Given the description of an element on the screen output the (x, y) to click on. 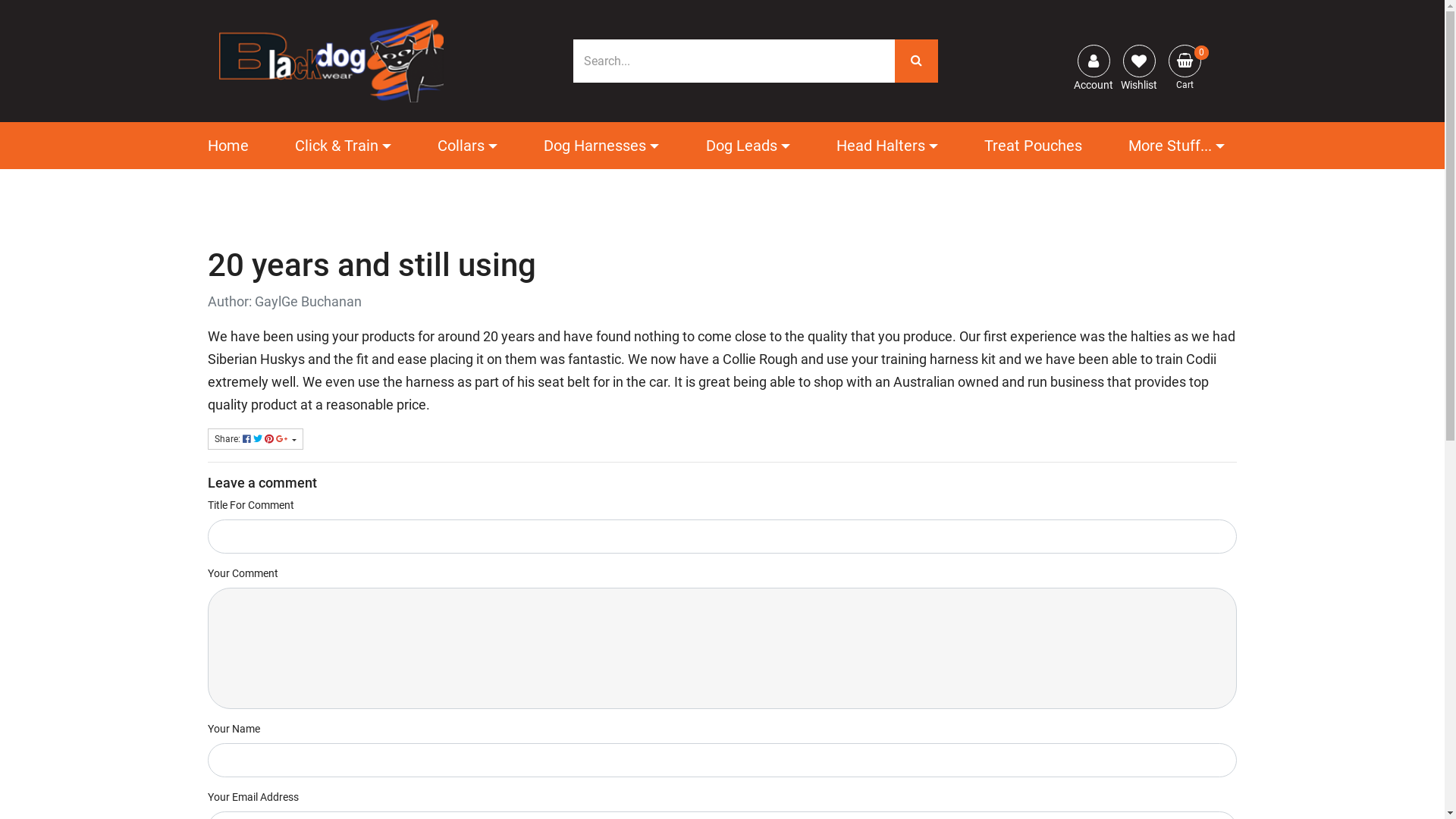
More Stuff... Element type: text (1176, 145)
Click & Train Element type: text (342, 145)
Dog Leads Element type: text (747, 145)
Account Element type: text (1093, 60)
Treat Pouches Element type: text (1033, 145)
Search Element type: text (916, 60)
Share: Element type: text (255, 438)
Collars Element type: text (467, 145)
Dog Harnesses Element type: text (601, 145)
Head Halters Element type: text (887, 145)
Wishlist Element type: text (1139, 60)
Home Element type: text (233, 145)
20 years and still using Element type: text (318, 20)
Cart
0 Element type: text (1184, 60)
Blackdog Wear Aus Element type: hover (331, 59)
